Given the description of an element on the screen output the (x, y) to click on. 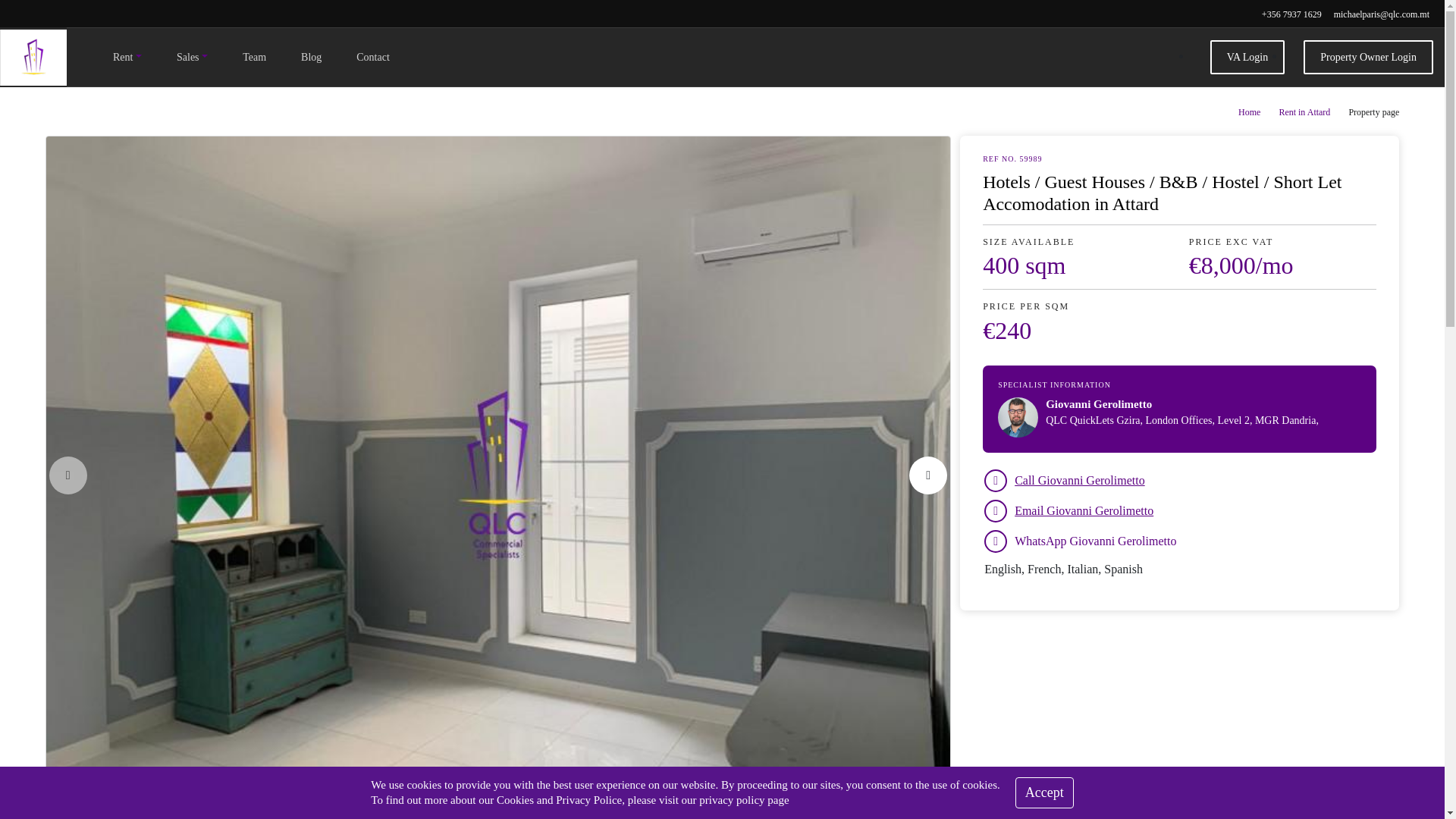
Contact (373, 57)
Home (1249, 112)
Property Owner Login (1367, 57)
QLC Logo (33, 56)
Rent (127, 57)
Team (253, 57)
Rent in Attard (1304, 112)
VA Login (1247, 57)
Blog (311, 57)
Property page (1373, 112)
Sales (192, 57)
